Given the description of an element on the screen output the (x, y) to click on. 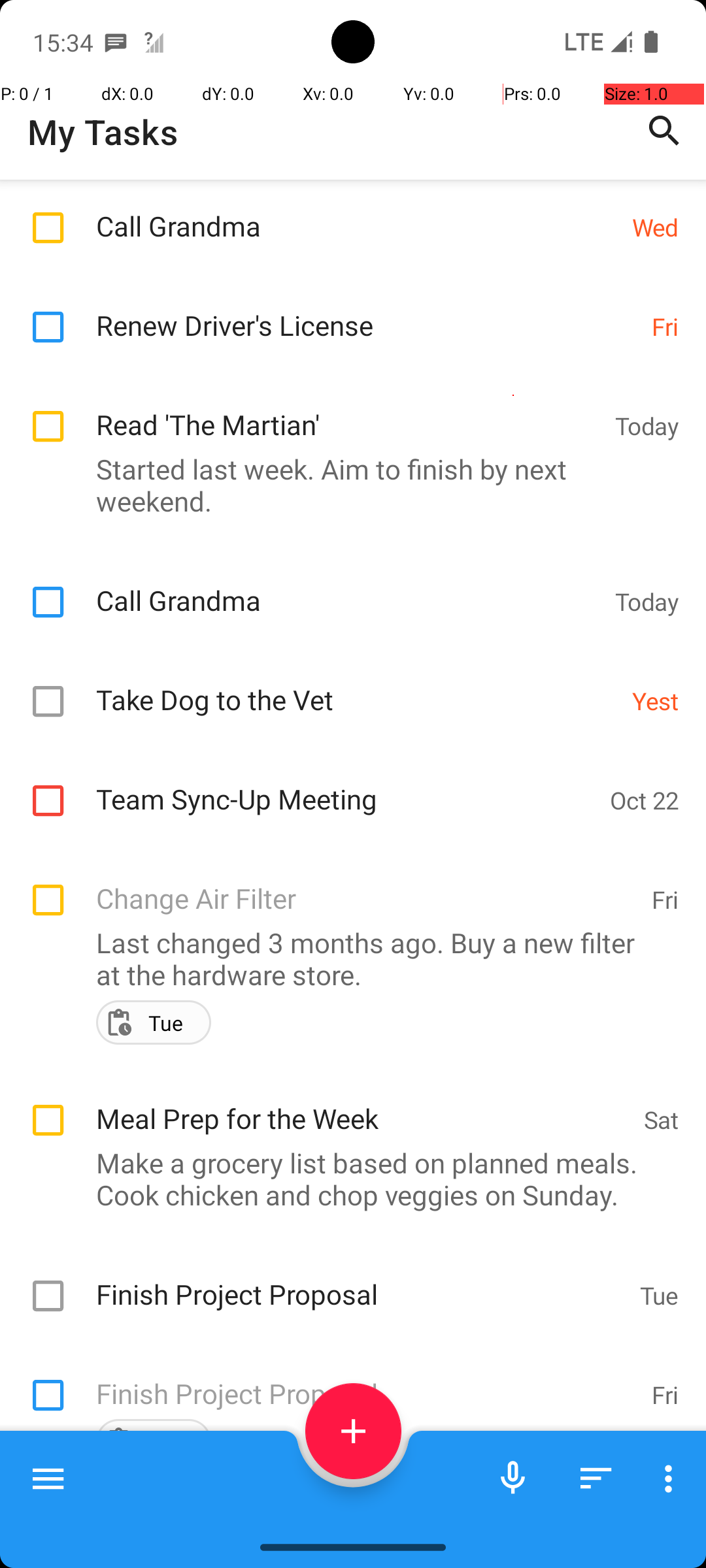
Team Sync-Up Meeting Element type: android.widget.TextView (346, 784)
Make a grocery list based on planned meals. Cook chicken and chop veggies on Sunday. Element type: android.widget.TextView (346, 1178)
